Given the description of an element on the screen output the (x, y) to click on. 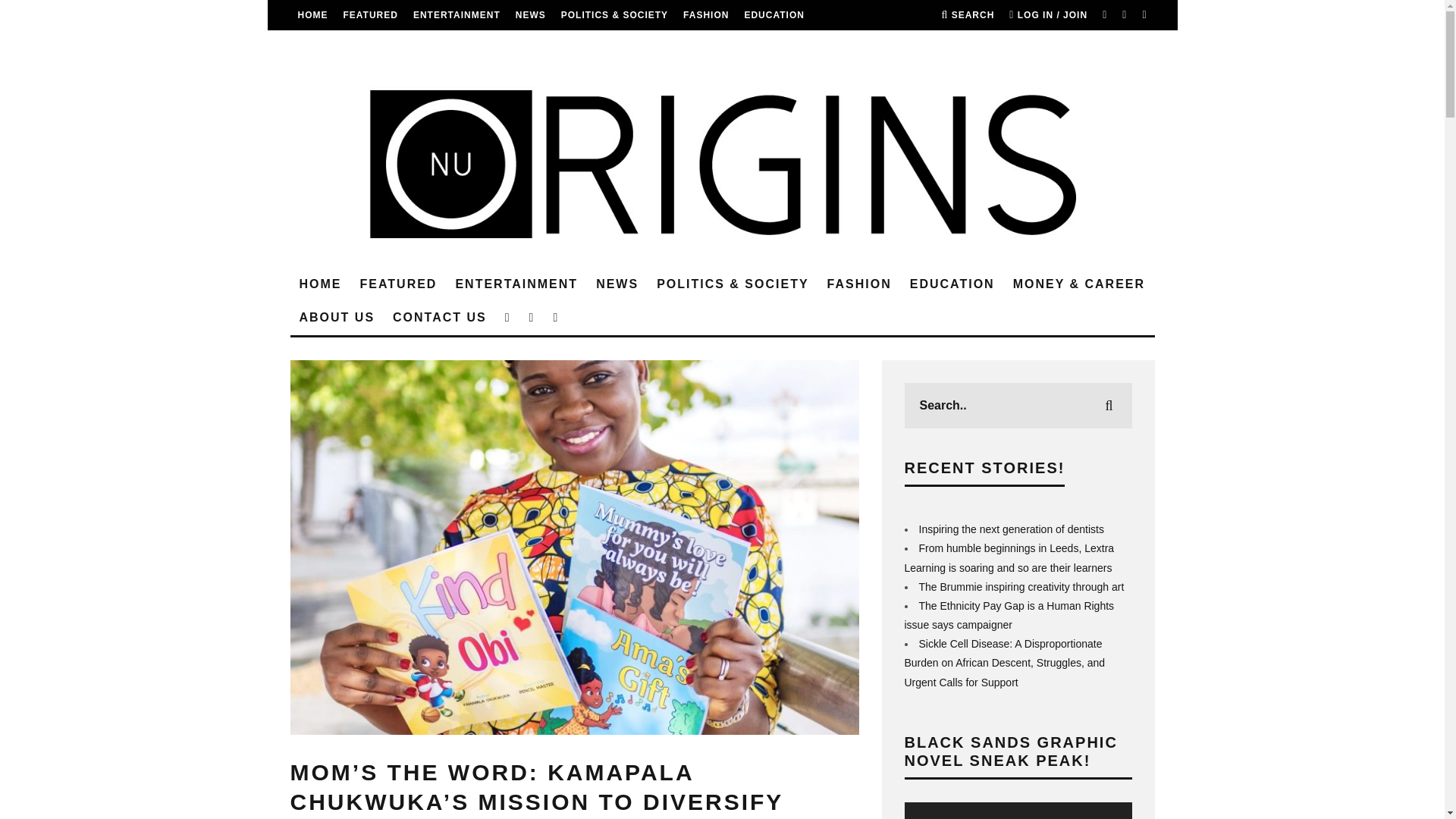
SEARCH (968, 15)
CONTACT US (508, 45)
ENTERTAINMENT (456, 15)
FASHION (705, 15)
HOME (312, 15)
Search (968, 15)
EDUCATION (773, 15)
FEATURED (369, 15)
Log In (721, 409)
HOME (319, 284)
NEWS (530, 15)
ABOUT US (433, 45)
